Given the description of an element on the screen output the (x, y) to click on. 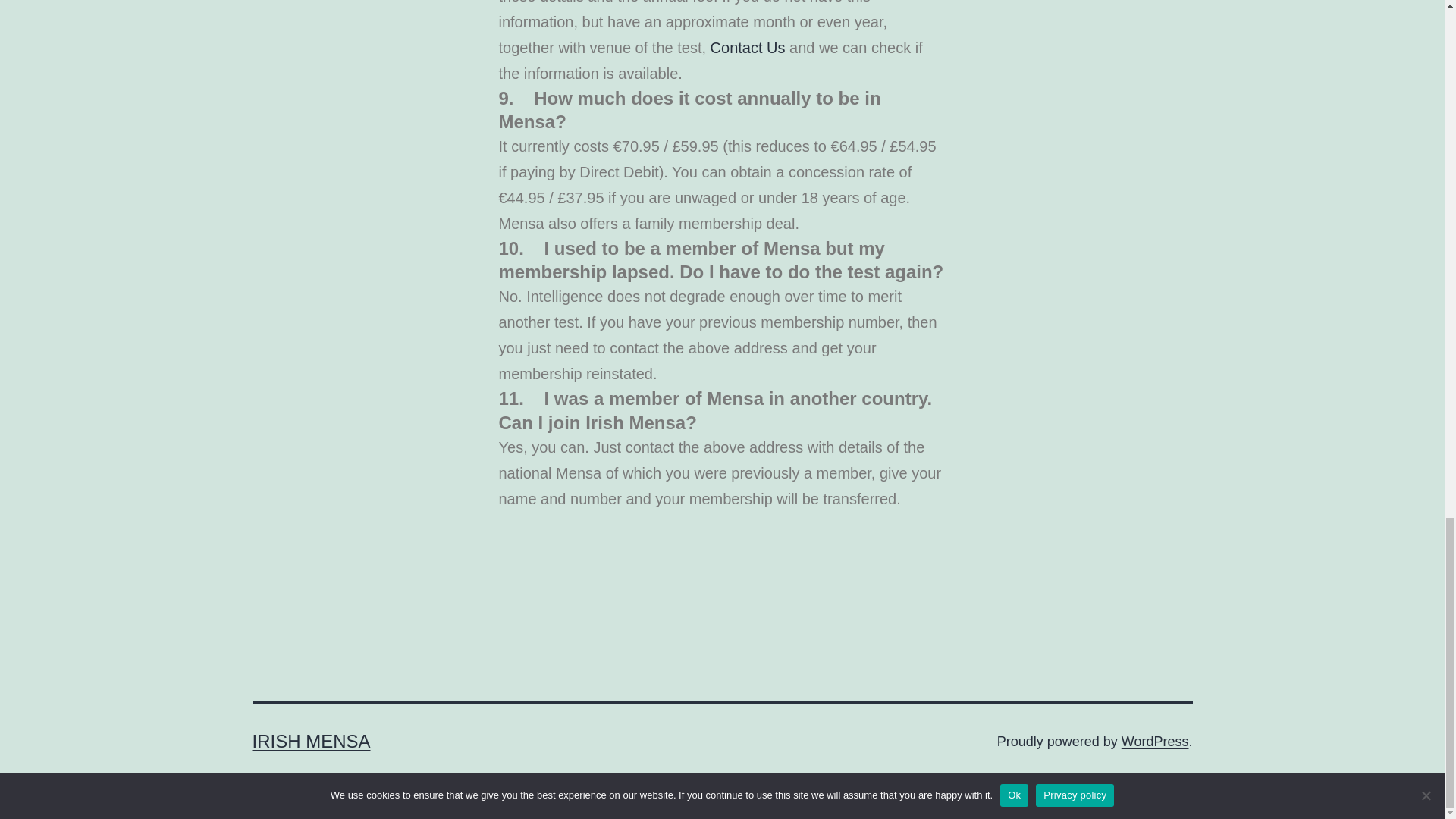
Contact Us (748, 47)
IRISH MENSA (310, 741)
WordPress (1155, 741)
Contact (748, 47)
